Given the description of an element on the screen output the (x, y) to click on. 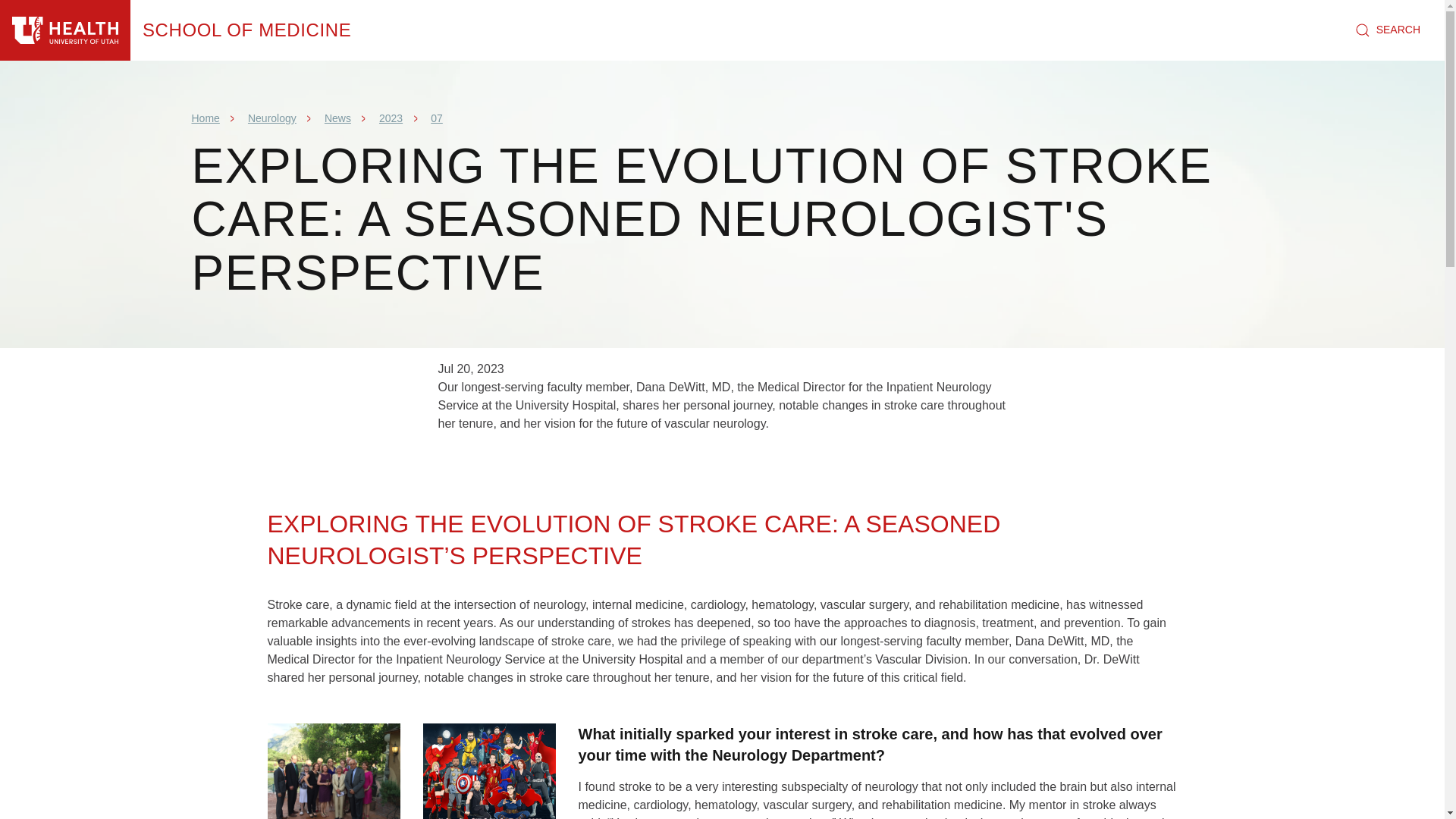
SCHOOL OF MEDICINE (246, 30)
07 (436, 118)
News (337, 118)
Home (246, 30)
SEARCH (1387, 30)
Home (65, 30)
Home (204, 118)
2023 (390, 118)
Neurology (272, 118)
